Given the description of an element on the screen output the (x, y) to click on. 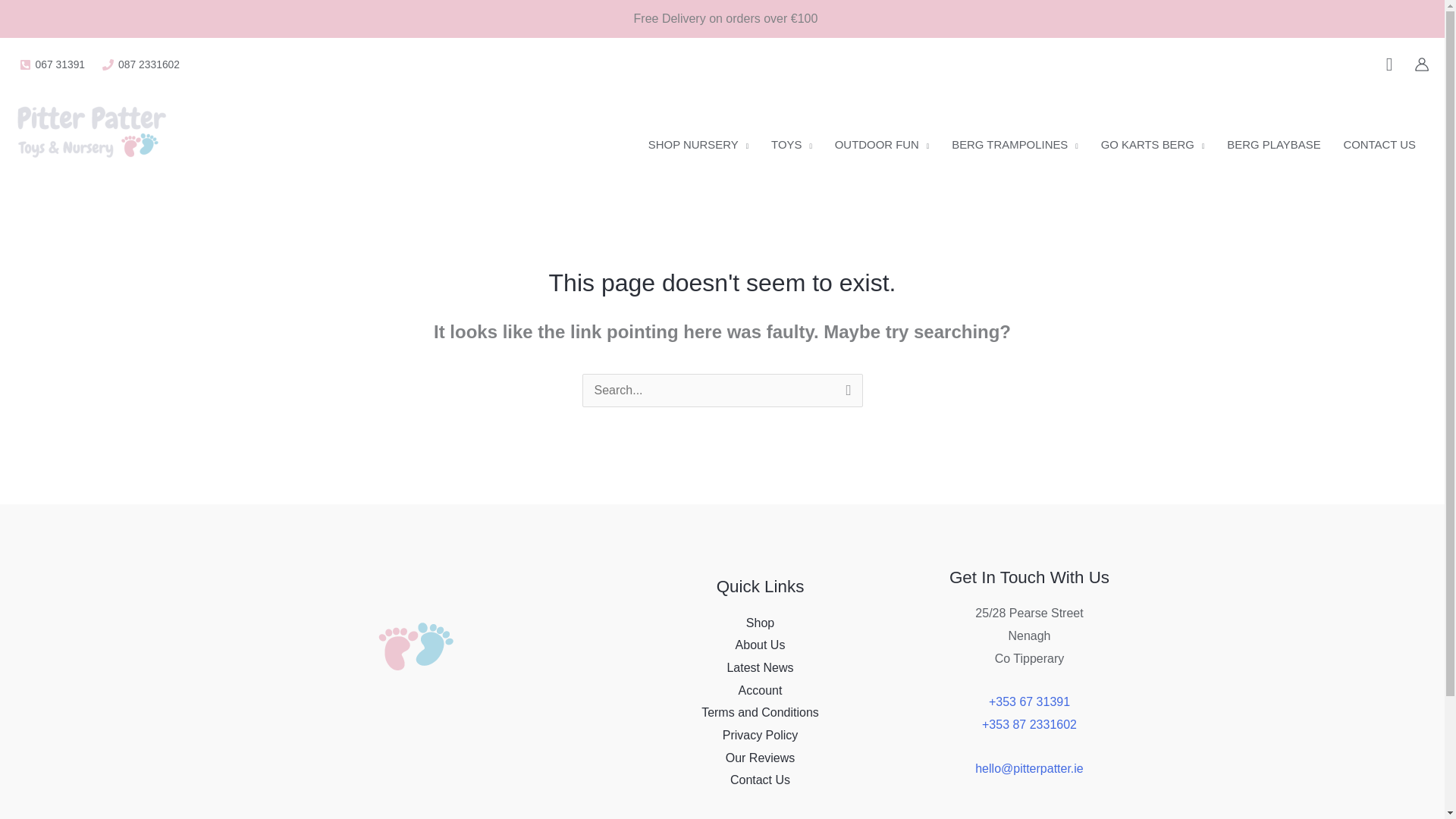
087 2331602 (141, 64)
Outdoor Fun (882, 144)
067 31391 (51, 64)
SHOP NURSERY (698, 144)
Search (844, 392)
Wooden Toys (792, 144)
Search (844, 392)
